Given the description of an element on the screen output the (x, y) to click on. 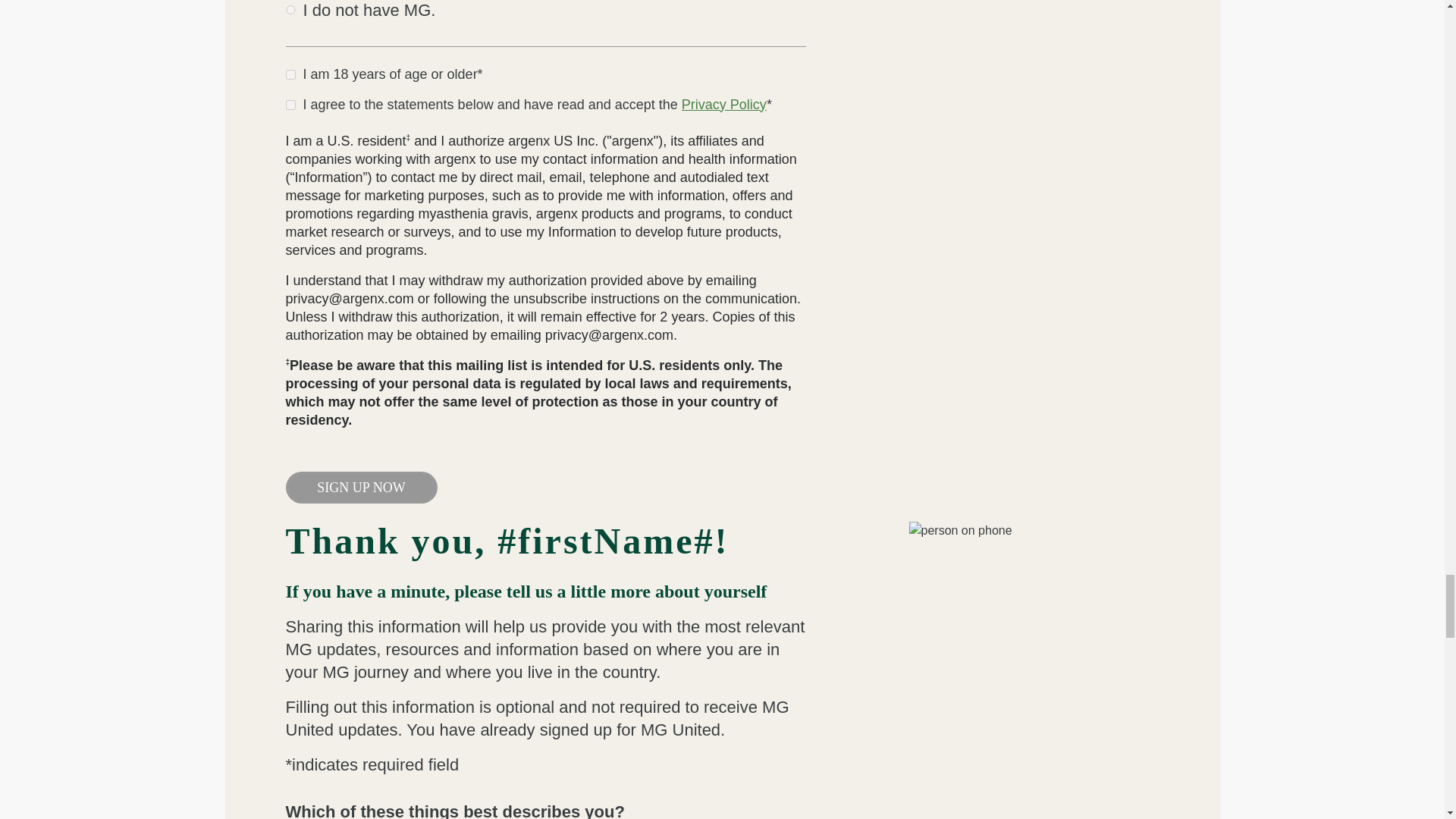
Privacy Policy (724, 104)
SIGN UP NOW (360, 487)
doesNotApply (290, 9)
ageThreshold (290, 74)
